Given the description of an element on the screen output the (x, y) to click on. 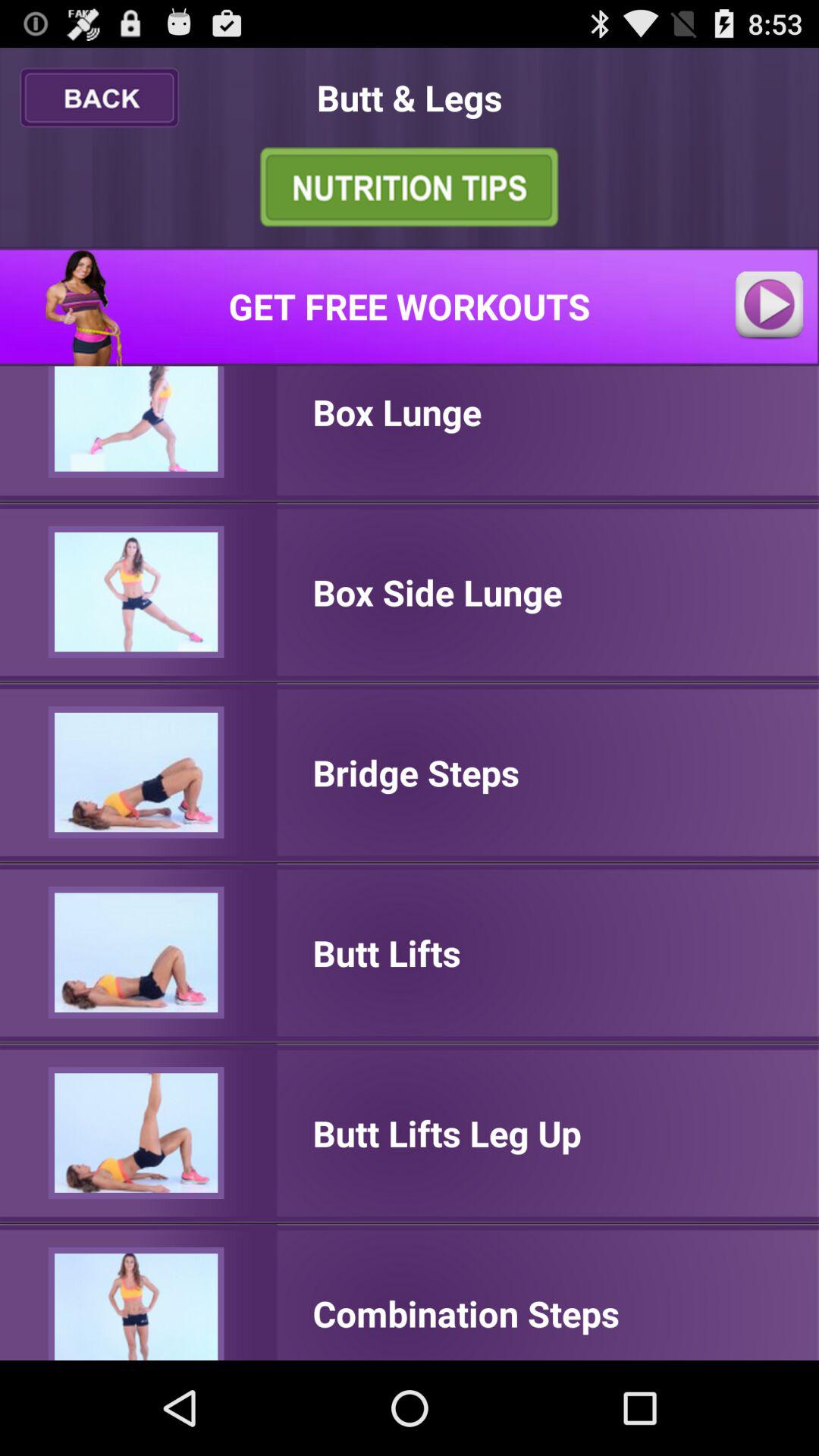
select the combination steps (465, 1313)
